Given the description of an element on the screen output the (x, y) to click on. 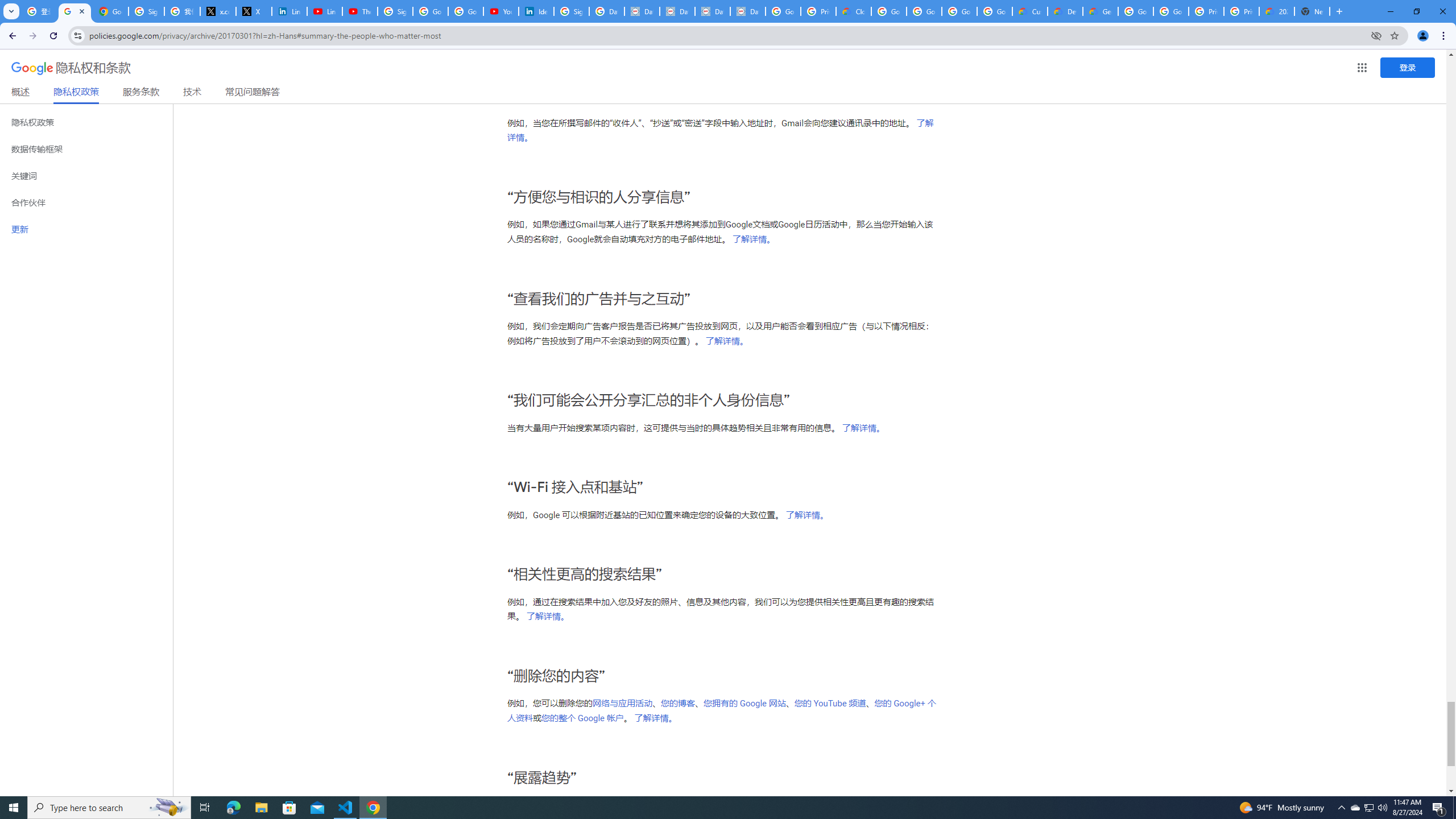
Data Privacy Framework (747, 11)
Data Privacy Framework (712, 11)
Google Workspace - Specific Terms (959, 11)
Google Cloud Platform (1135, 11)
